Given the description of an element on the screen output the (x, y) to click on. 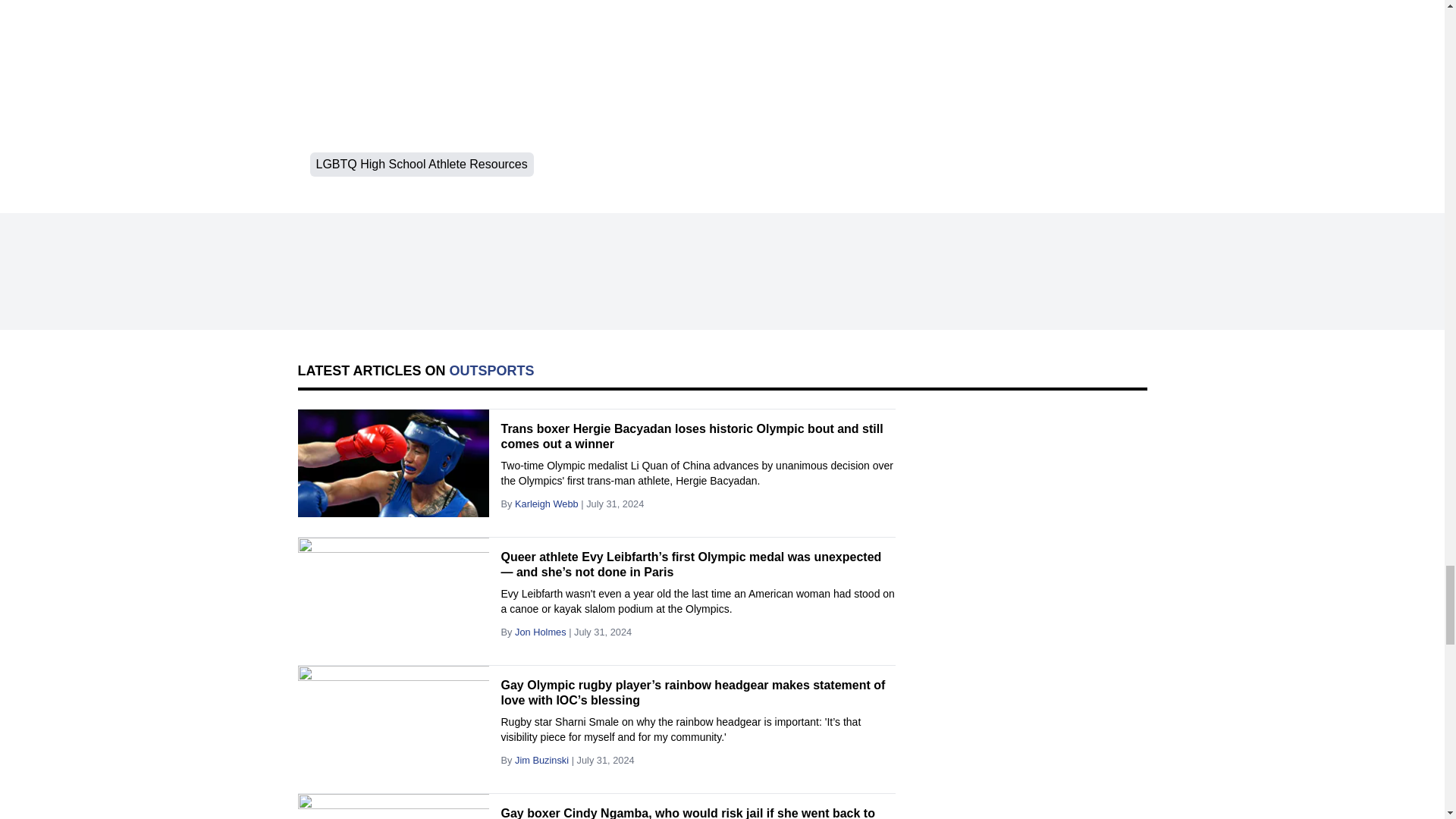
Karleigh Webb (546, 503)
LGBTQ High School Athlete Resources (420, 164)
Jon Holmes (540, 632)
Jim Buzinski (542, 759)
